Given the description of an element on the screen output the (x, y) to click on. 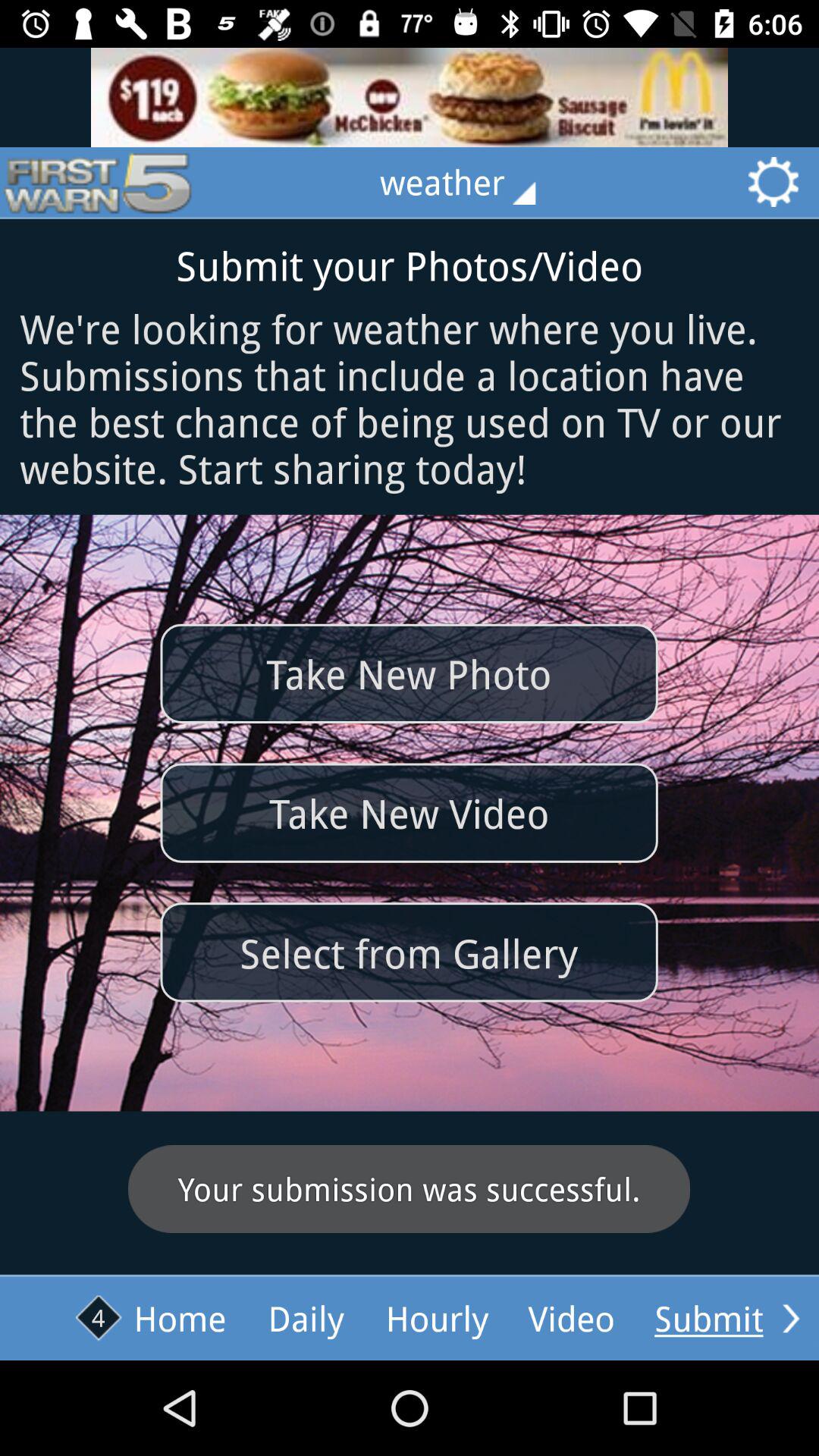
view more options (791, 1318)
